Given the description of an element on the screen output the (x, y) to click on. 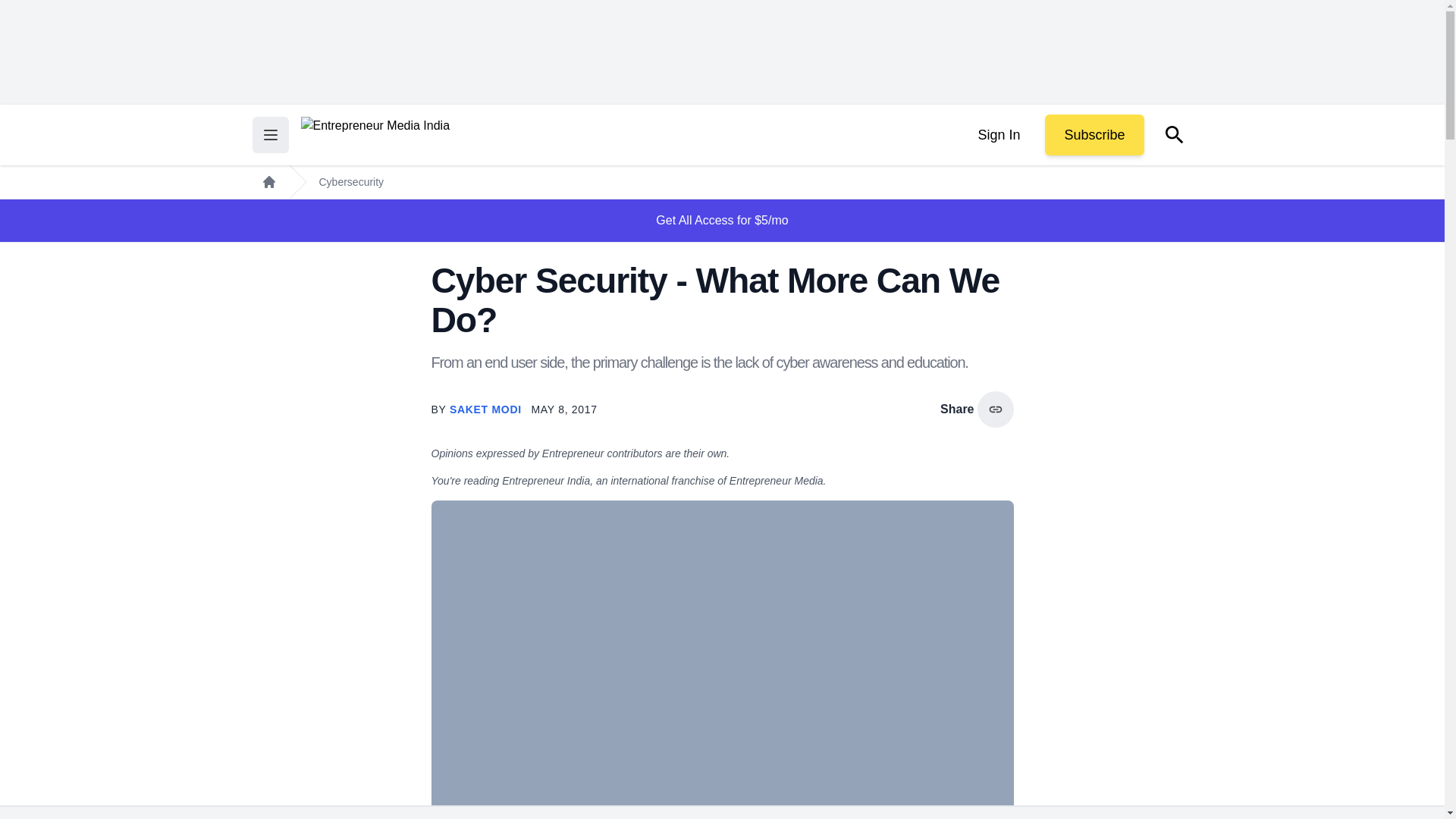
Subscribe (1093, 134)
Return to the home page (374, 135)
copy (994, 409)
Sign In (998, 134)
